Given the description of an element on the screen output the (x, y) to click on. 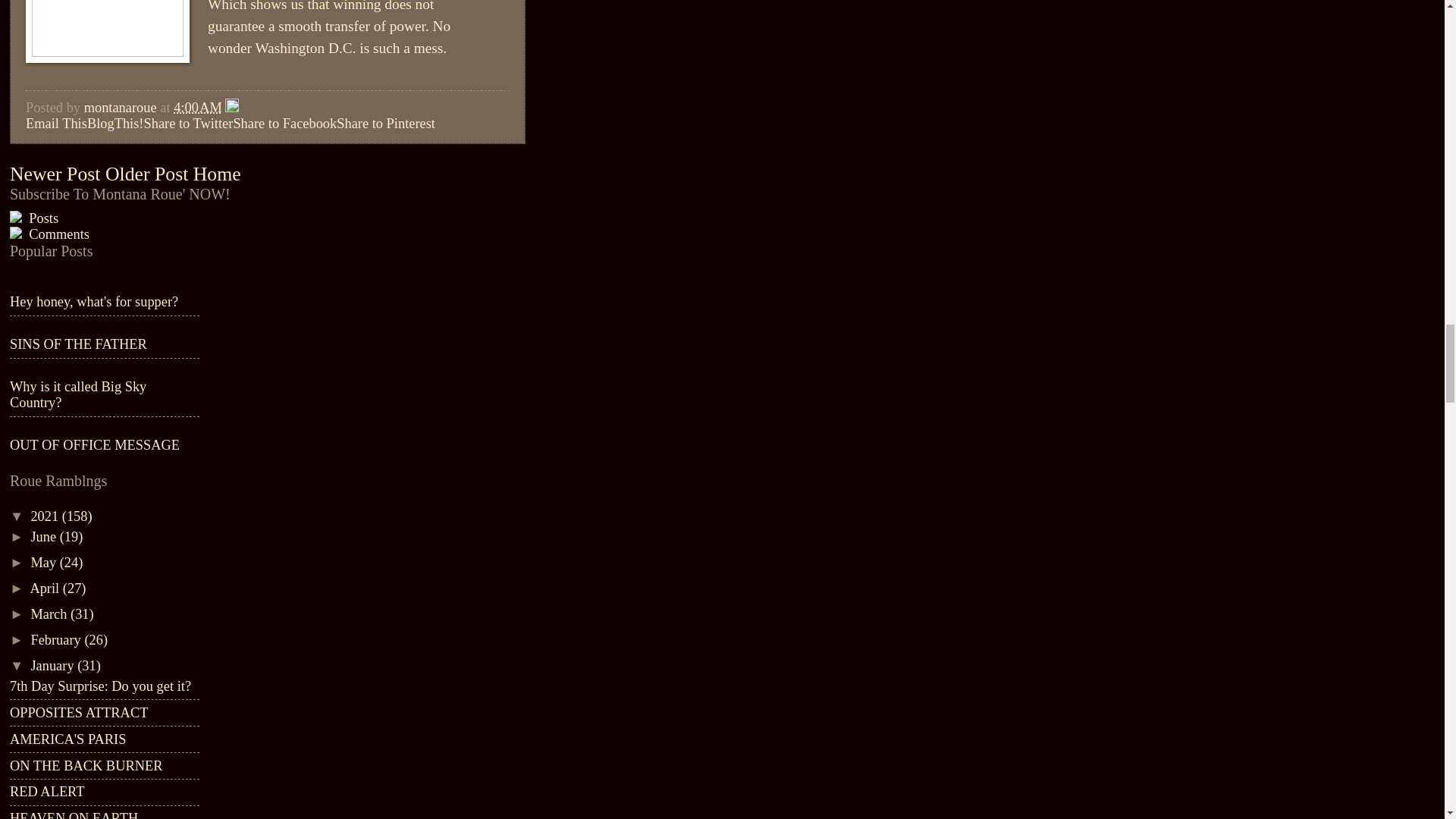
Why is it called Big Sky Country? (78, 394)
Email This (56, 123)
Newer Post (55, 173)
Older Post (145, 173)
Home (217, 173)
2021 (45, 516)
Newer Post (55, 173)
montanaroue (122, 107)
permanent link (197, 107)
Share to Pinterest (385, 123)
BlogThis! (115, 123)
SINS OF THE FATHER (78, 344)
author profile (122, 107)
Share to Twitter (187, 123)
Edit Post (231, 107)
